Given the description of an element on the screen output the (x, y) to click on. 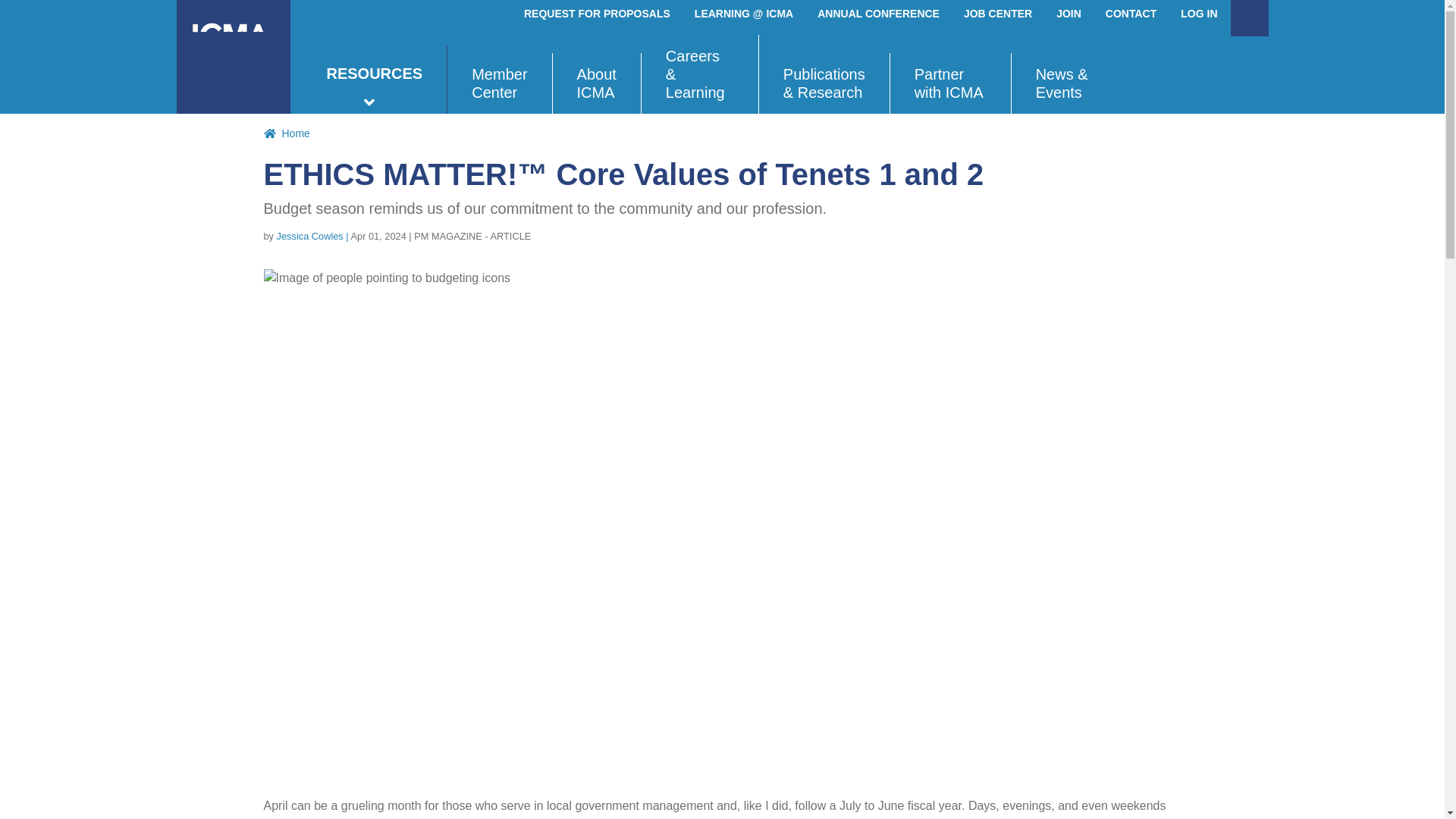
View ICMA's Requests for Proposals (597, 14)
Skip to main content (721, 1)
Home (232, 56)
RESOURCES (373, 79)
